Given the description of an element on the screen output the (x, y) to click on. 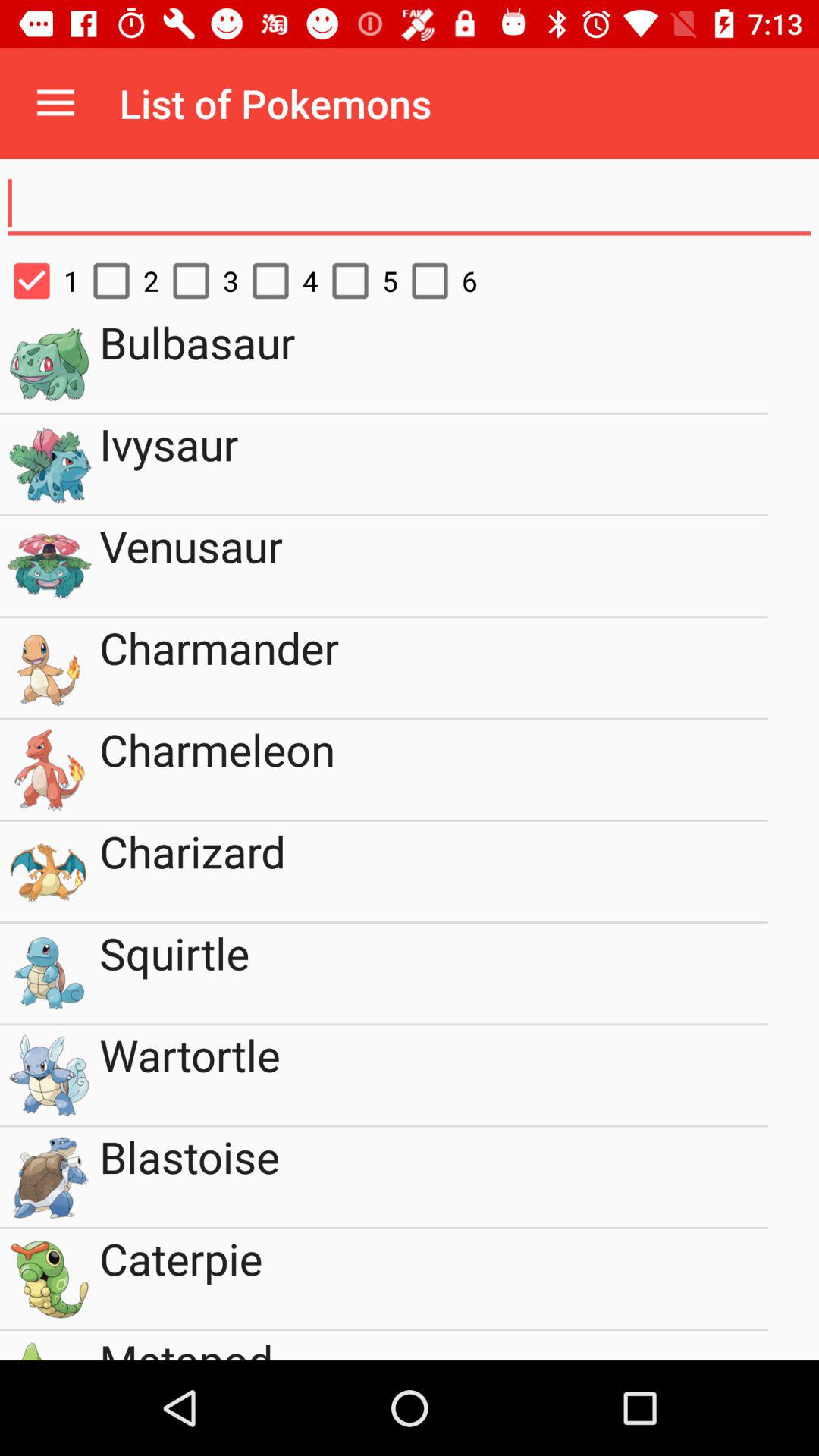
swipe to bulbasaur item (433, 362)
